Given the description of an element on the screen output the (x, y) to click on. 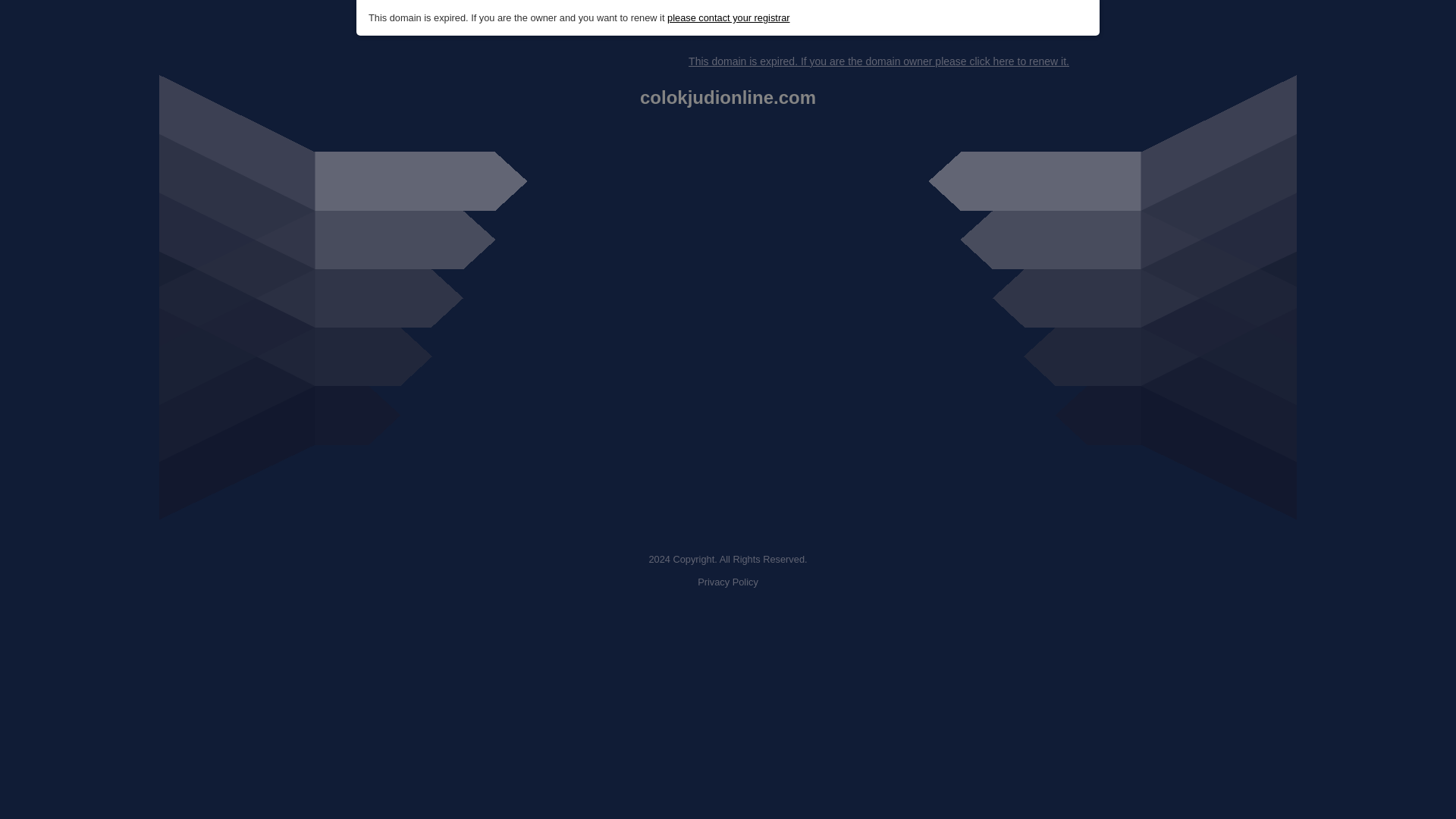
Privacy Policy (727, 582)
please contact your registrar (727, 17)
